Given the description of an element on the screen output the (x, y) to click on. 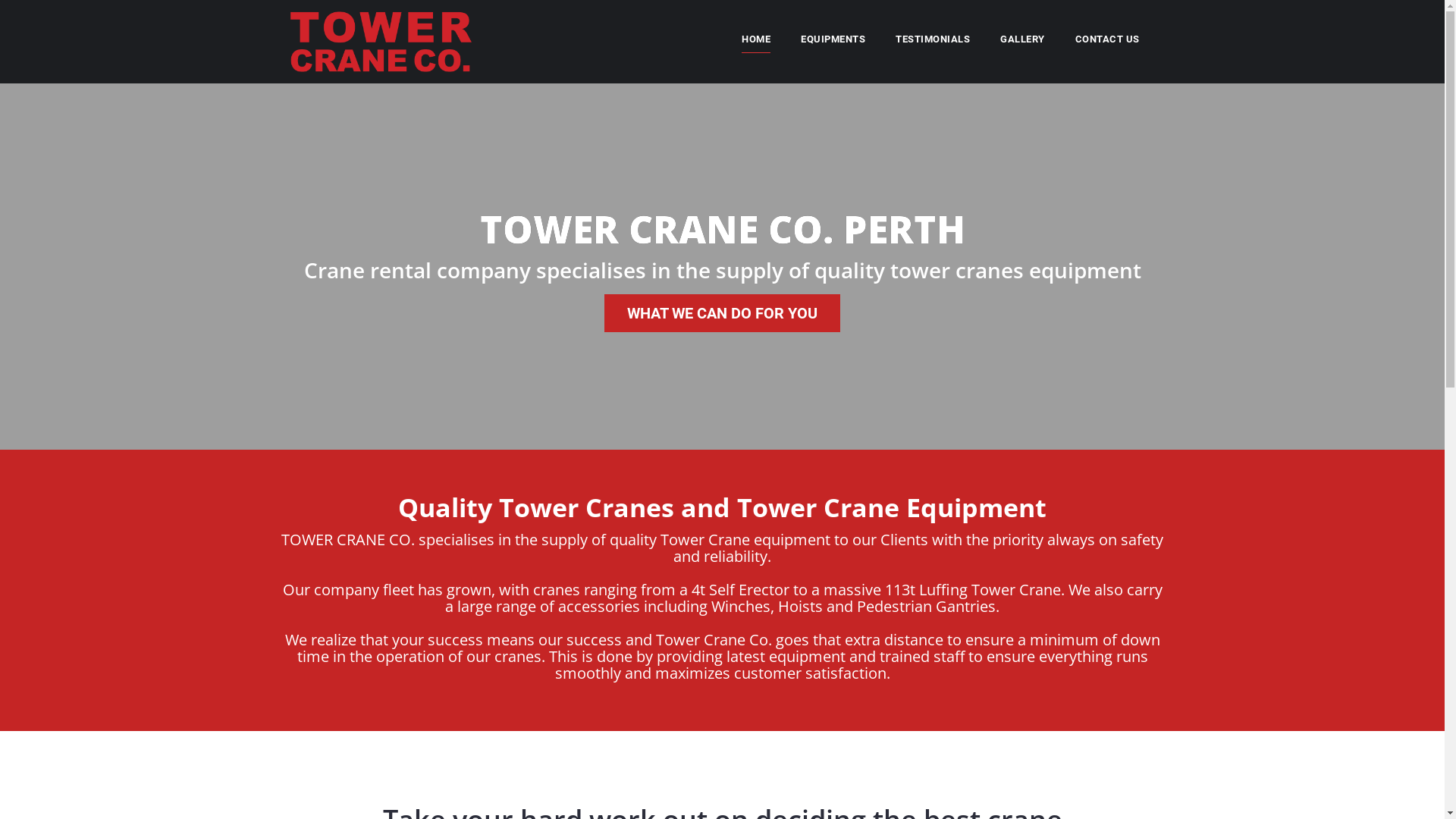
HOME Element type: text (755, 41)
CONTACT US Element type: text (1107, 41)
Tower Crane Rental Perth Element type: hover (379, 40)
EQUIPMENTS Element type: text (832, 41)
Skip to content Element type: text (0, 0)
TESTIMONIALS Element type: text (932, 41)
WHAT WE CAN DO FOR YOU Element type: text (722, 313)
GALLERY Element type: text (1022, 41)
